Given the description of an element on the screen output the (x, y) to click on. 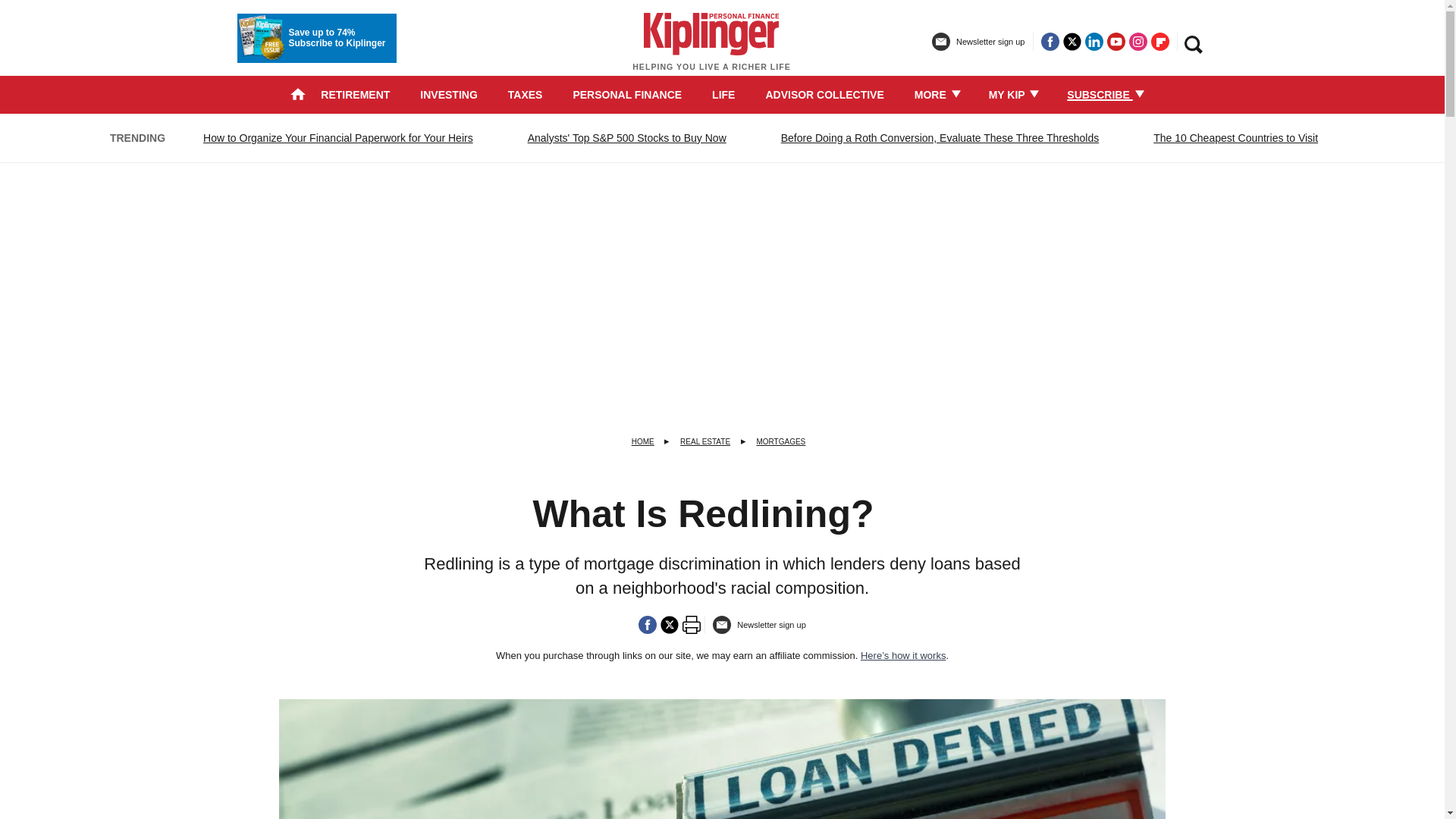
TAXES (525, 94)
HELPING YOU LIVE A RICHER LIFE (710, 48)
ADVISOR COLLECTIVE (824, 94)
PERSONAL FINANCE (626, 94)
LIFE (723, 94)
INVESTING (448, 94)
RETIREMENT (355, 94)
